Given the description of an element on the screen output the (x, y) to click on. 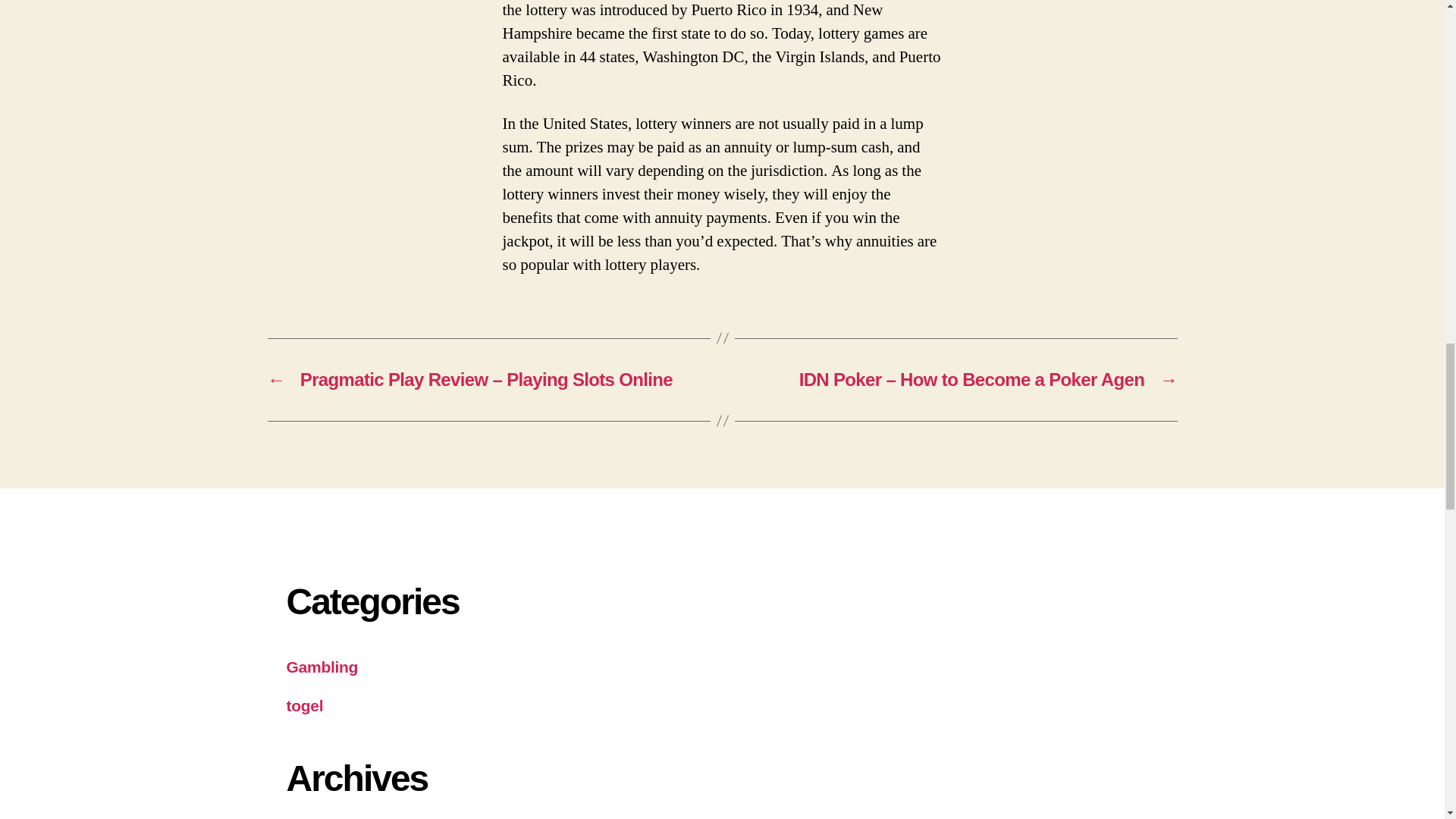
togel (304, 705)
Gambling (322, 666)
